Given the description of an element on the screen output the (x, y) to click on. 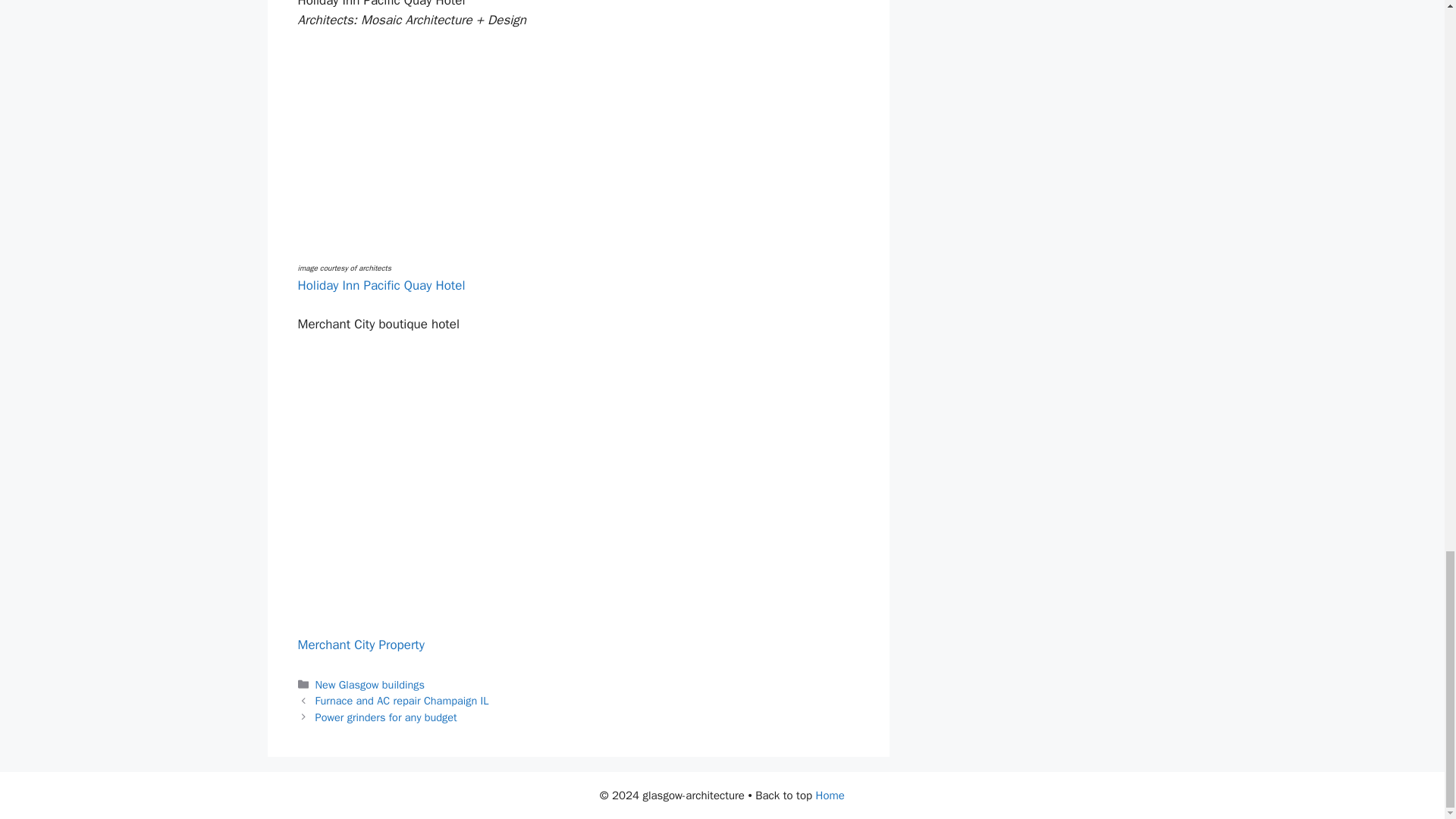
Furnace and AC repair Champaign IL (402, 700)
Power grinders for any budget (386, 716)
New Glasgow buildings (370, 684)
Merchant City Property (360, 644)
Holiday Inn Pacific Quay Hotel (380, 285)
Home (829, 795)
